Given the description of an element on the screen output the (x, y) to click on. 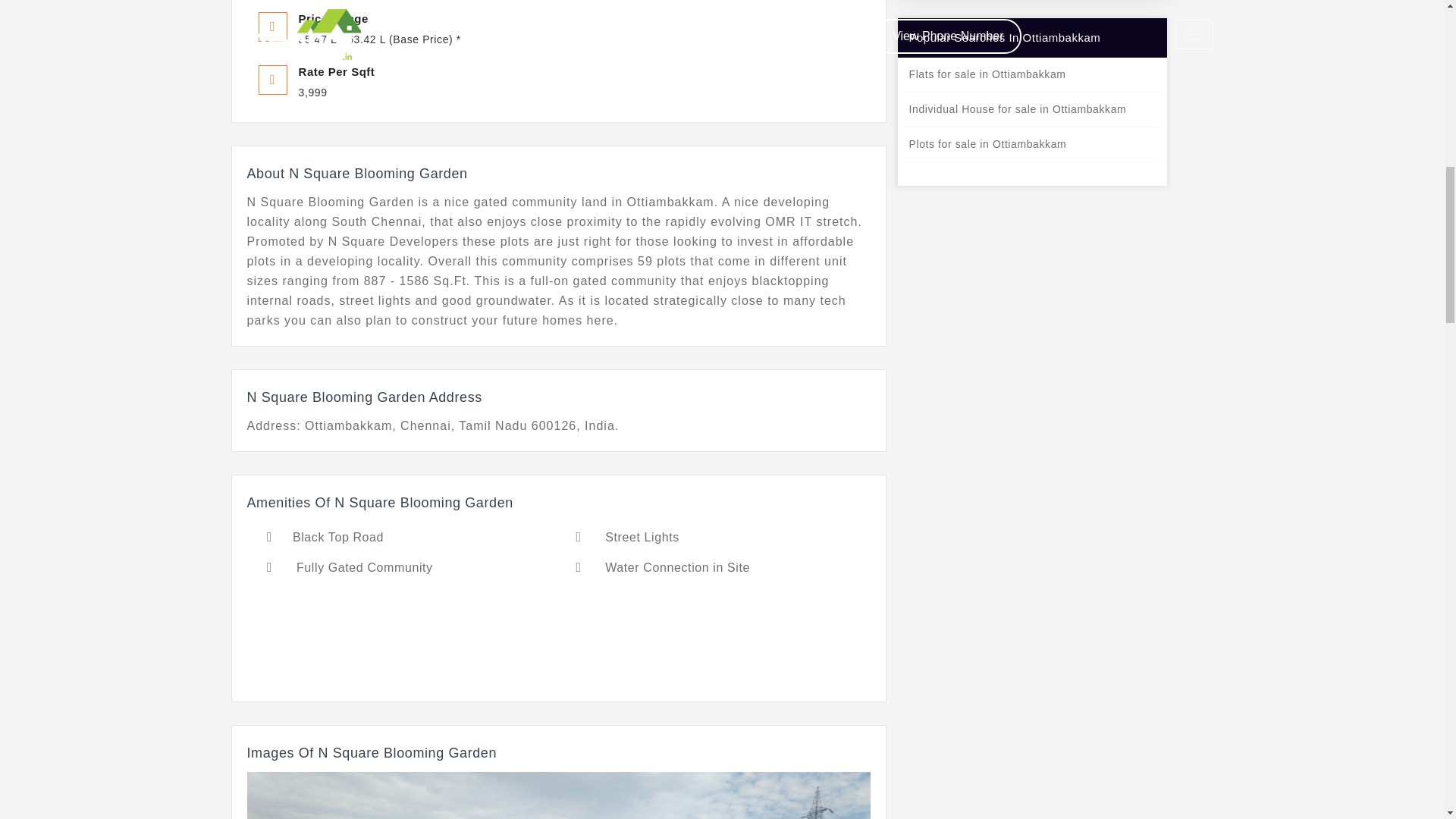
Plots for sale in Ottiambakkam (1031, 144)
Flats for sale in Ottiambakkam (1031, 74)
Next (822, 795)
Individual House for sale in Ottiambakkam (1031, 109)
Flats for sale in Ottiambakkam (1031, 74)
Previous (293, 795)
